Given the description of an element on the screen output the (x, y) to click on. 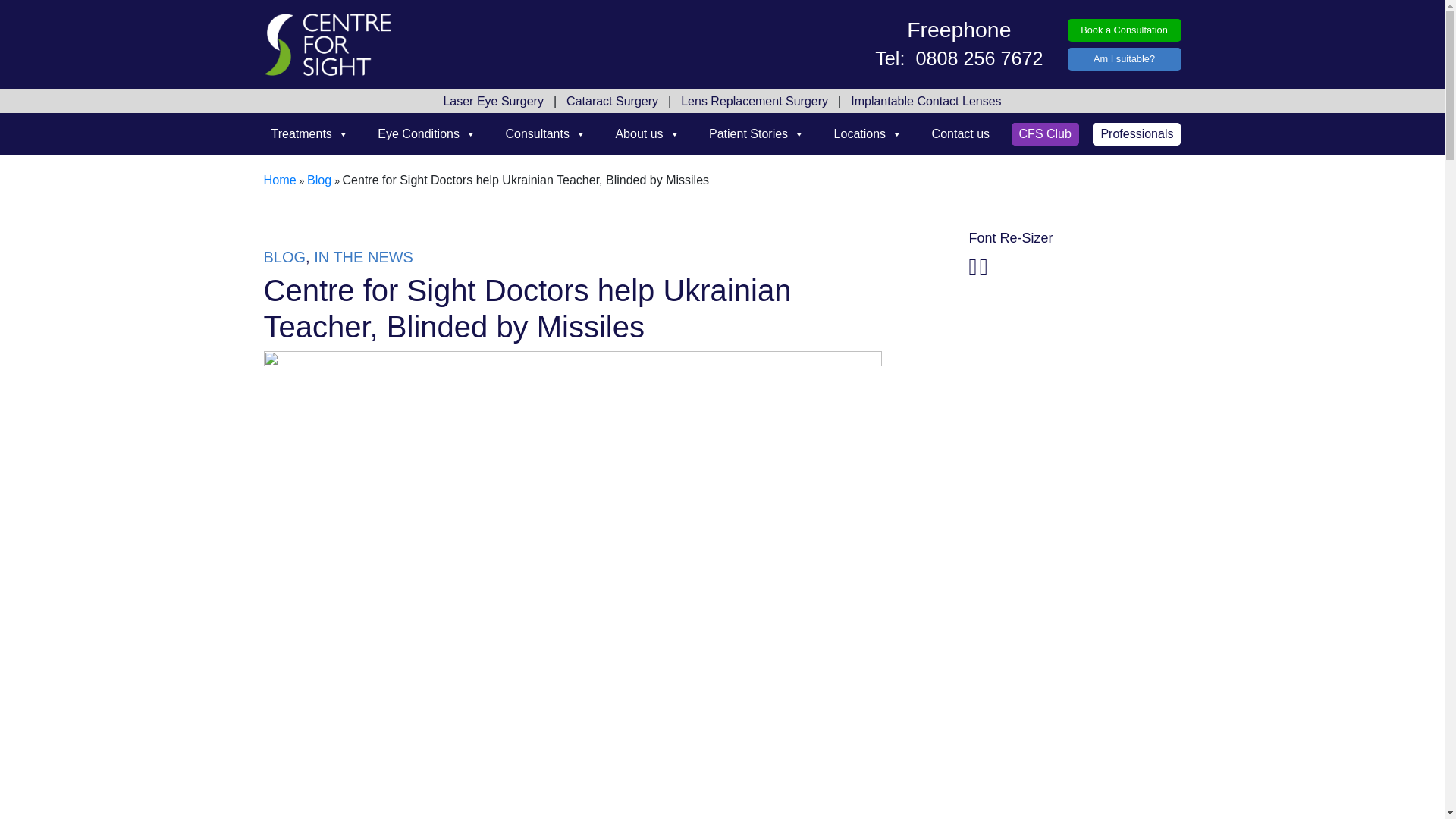
Implantable Contact Lenses (925, 101)
Laser Eye Surgery (493, 101)
Lens Replacement Surgery (754, 101)
Book a Consultation (1123, 30)
Am I suitable? (1123, 58)
Go to the Blog category archives. (319, 180)
Treatments (309, 133)
0808 256 7672 (976, 56)
Cataract Surgery (612, 101)
